Given the description of an element on the screen output the (x, y) to click on. 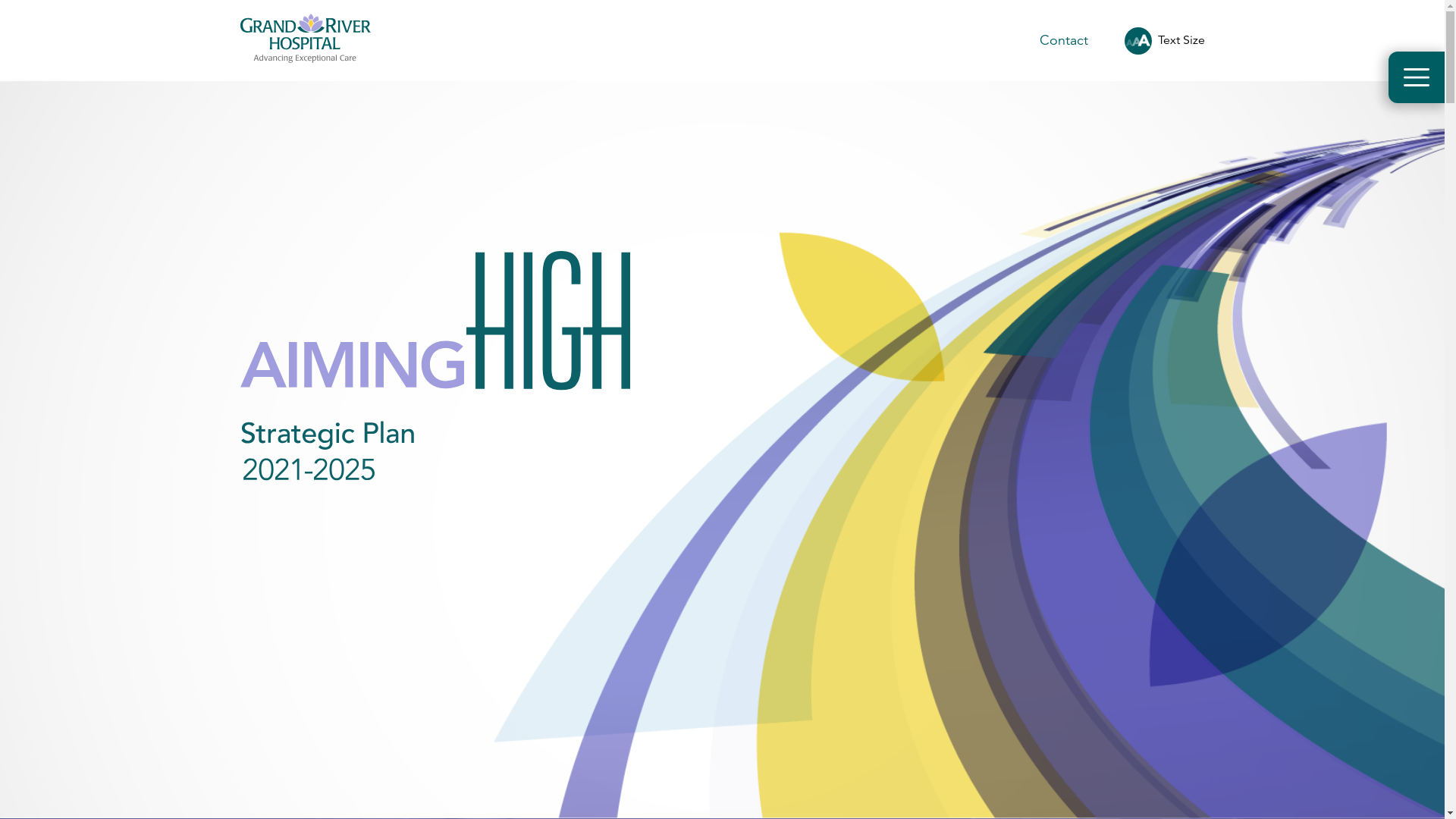
Increase
Text Size Element type: text (1164, 40)
Site menu Element type: text (1416, 77)
Contact Element type: text (1063, 39)
